Given the description of an element on the screen output the (x, y) to click on. 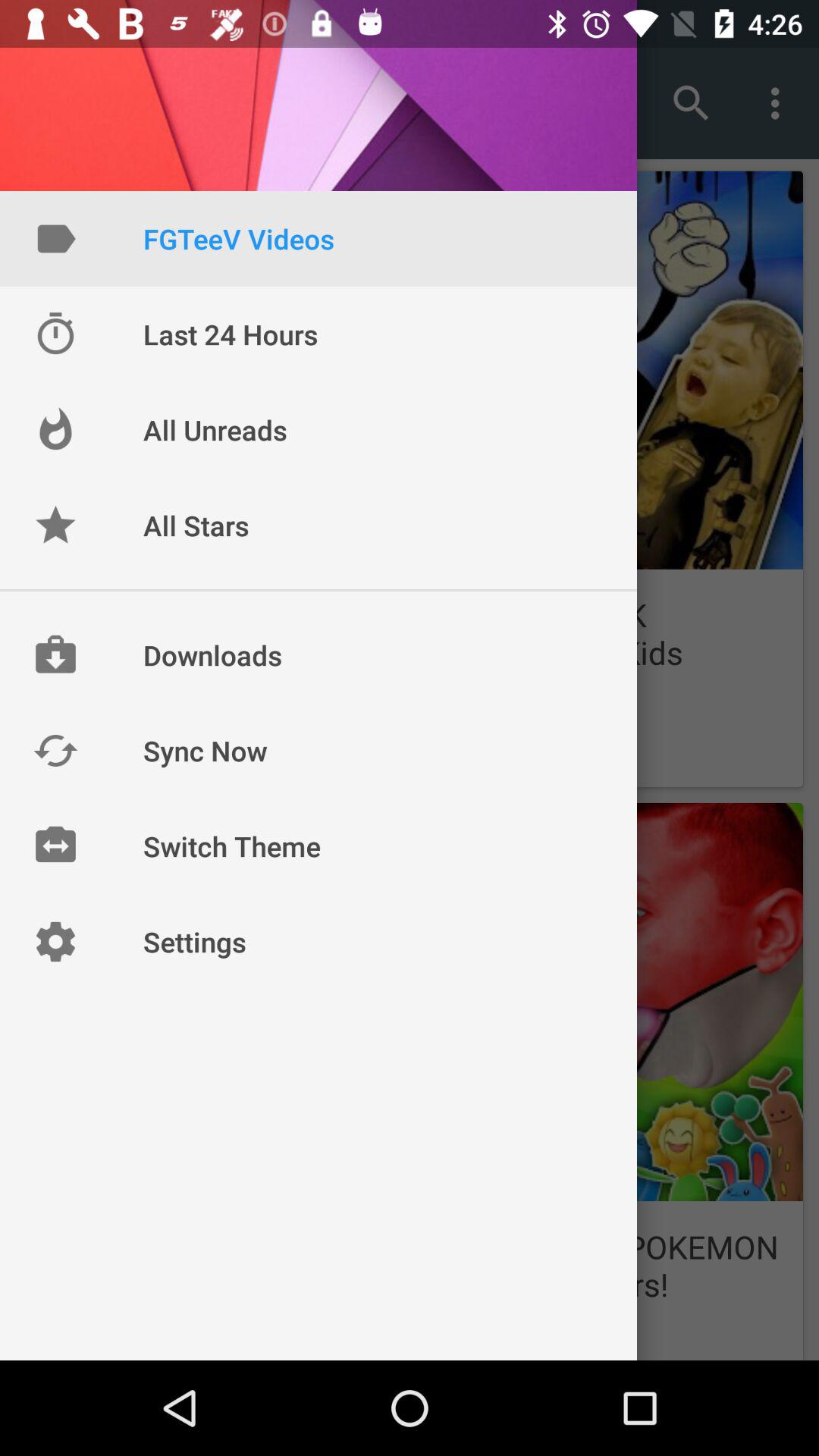
select the icon above the settings icon in the bottom (55, 845)
